Given the description of an element on the screen output the (x, y) to click on. 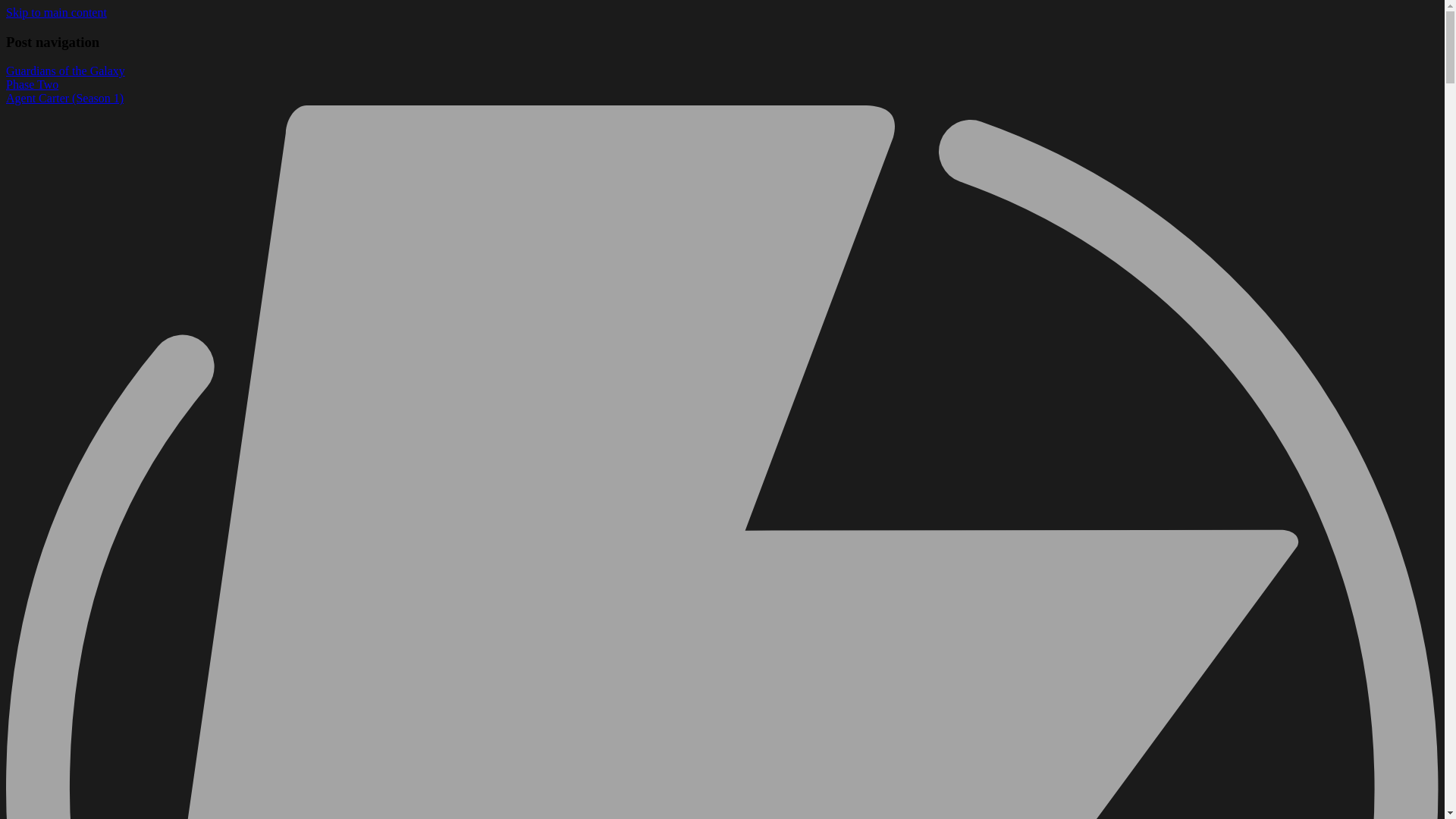
Guardians of the Galaxy (65, 70)
Guardians of the Galaxy (65, 70)
Skip to main content (55, 11)
Phase Two (31, 83)
Skip to main content (55, 11)
